Given the description of an element on the screen output the (x, y) to click on. 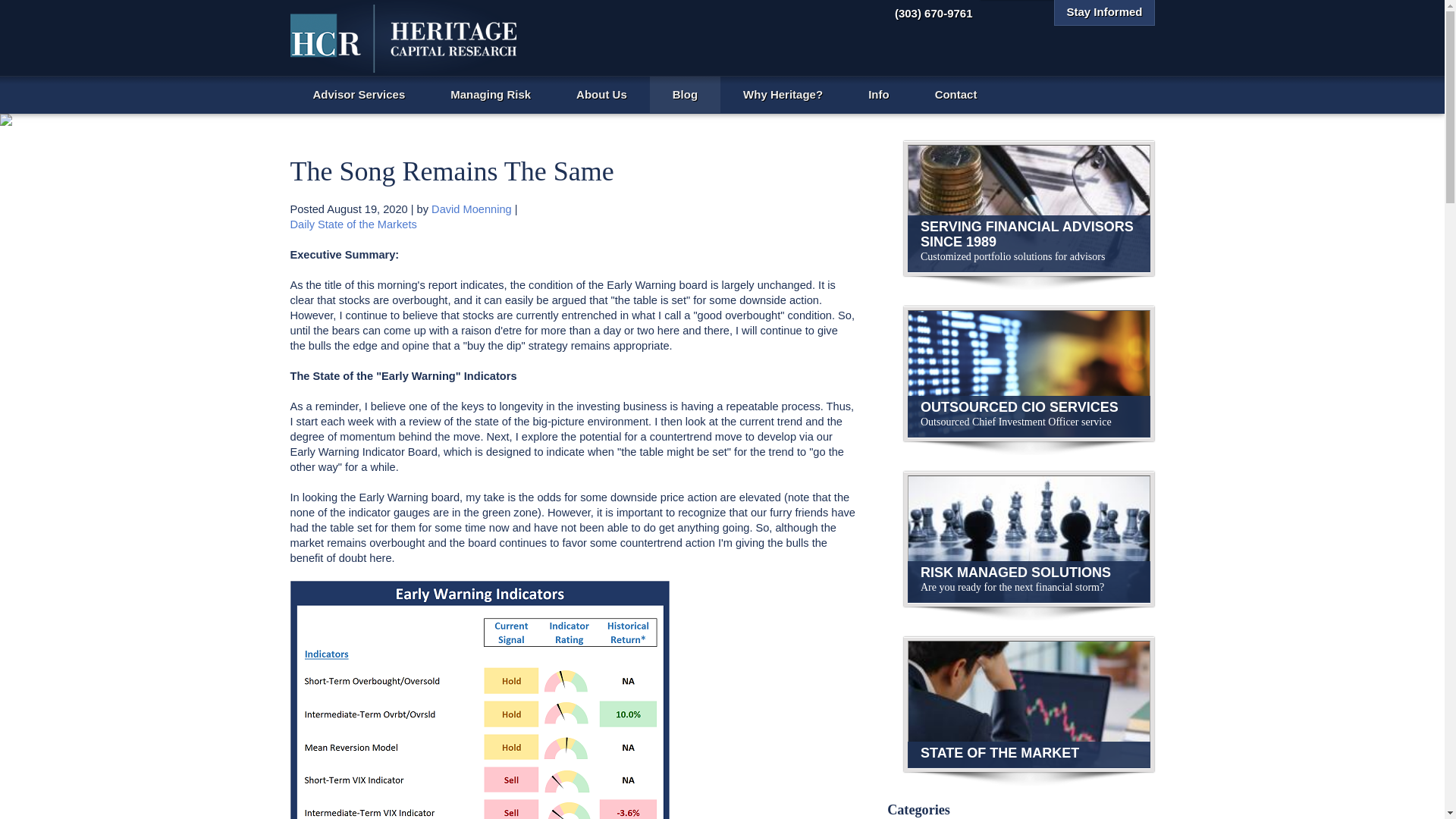
Advisor Services (358, 94)
STATE OF THE MARKET (1029, 704)
Info (878, 94)
Stay Informed (1104, 12)
Why Heritage? (782, 94)
Managing Risk (490, 94)
David Moenning (471, 209)
